Given the description of an element on the screen output the (x, y) to click on. 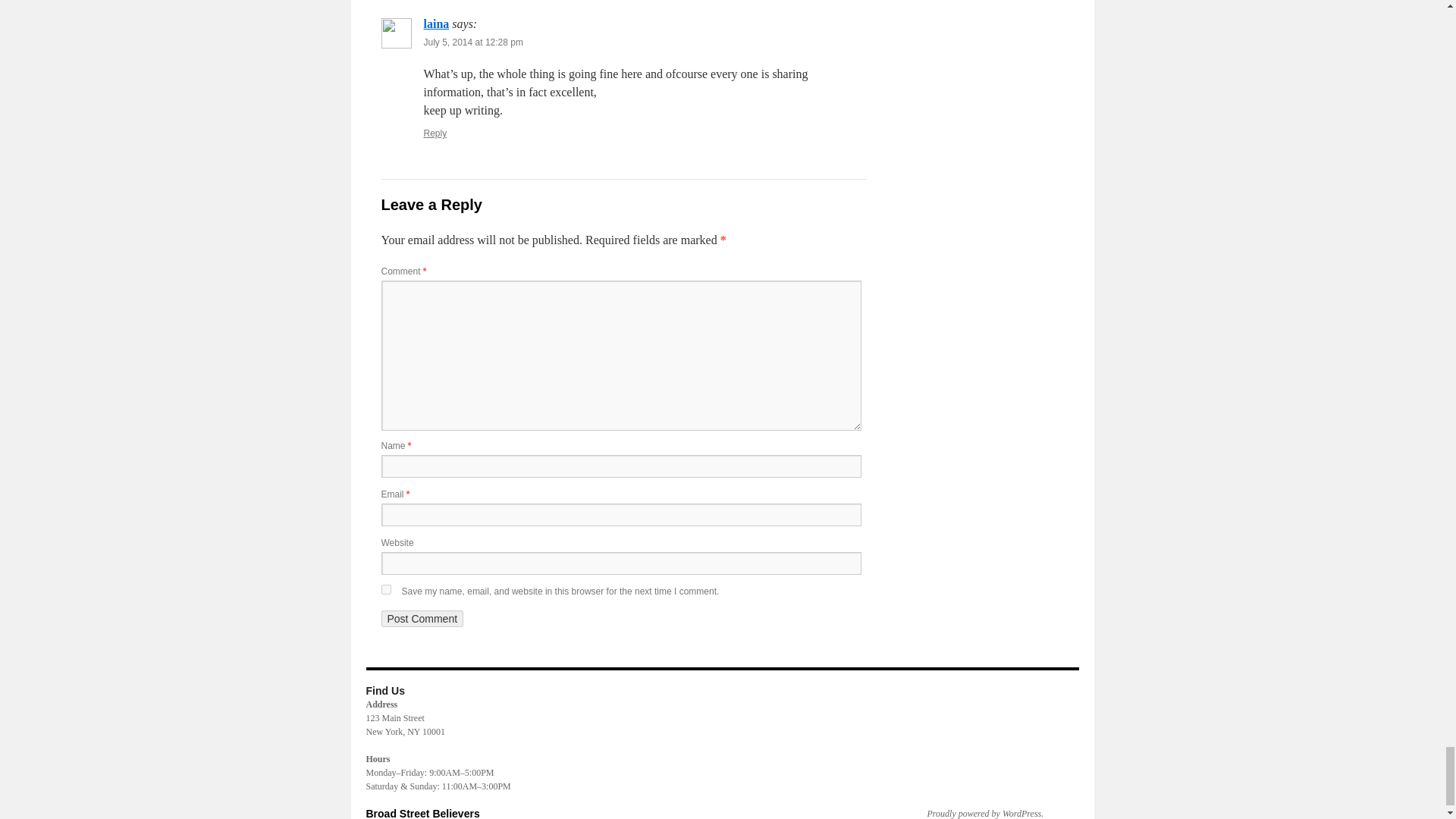
Reply (434, 132)
Post Comment (421, 618)
Post Comment (421, 618)
yes (385, 589)
July 5, 2014 at 12:28 pm (472, 41)
laina (435, 23)
